Given the description of an element on the screen output the (x, y) to click on. 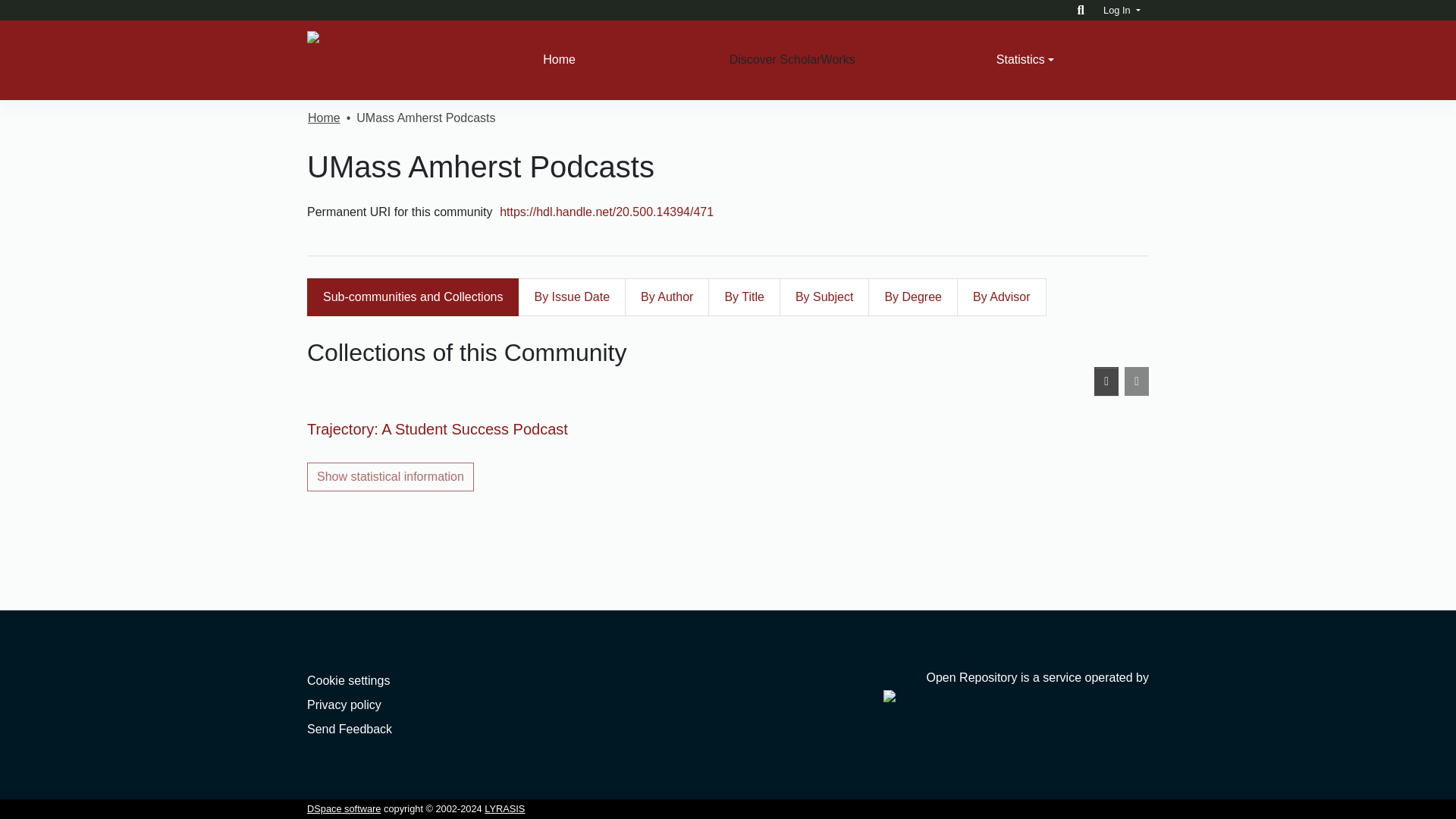
By Degree (912, 297)
Statistics (1024, 59)
Home (558, 59)
By Author (666, 297)
By Subject (823, 297)
By Title (742, 297)
Log In (1121, 9)
Home (323, 117)
By Advisor (1001, 297)
Sub-communities and Collections (412, 297)
